Given the description of an element on the screen output the (x, y) to click on. 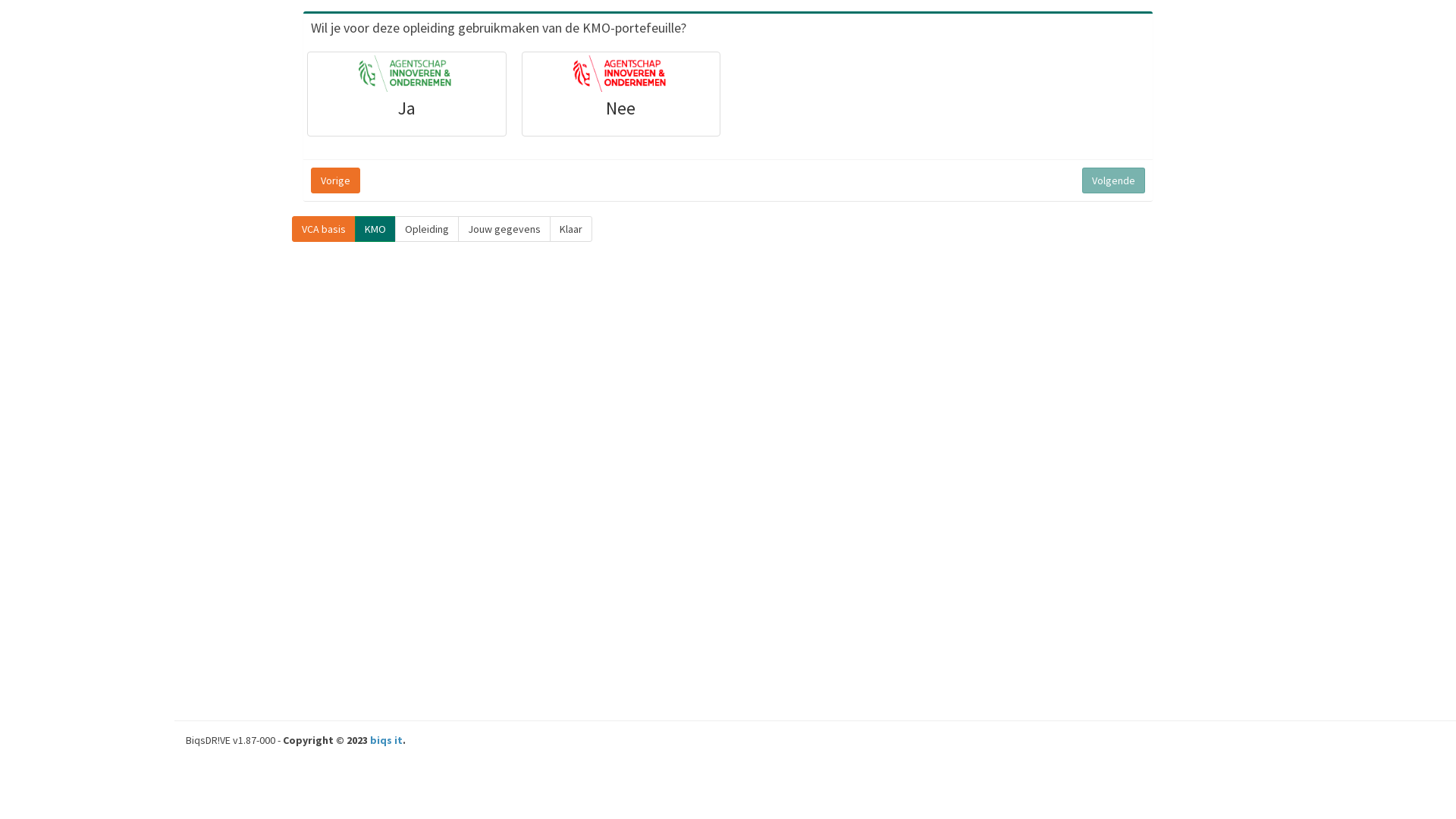
KMO Element type: text (374, 228)
Opleiding Element type: text (426, 228)
Klaar Element type: text (570, 228)
Jouw gegevens Element type: text (504, 228)
VCA basis Element type: text (323, 228)
Volgende Element type: text (1113, 180)
biqs it Element type: text (386, 739)
Vorige Element type: text (335, 180)
